Given the description of an element on the screen output the (x, y) to click on. 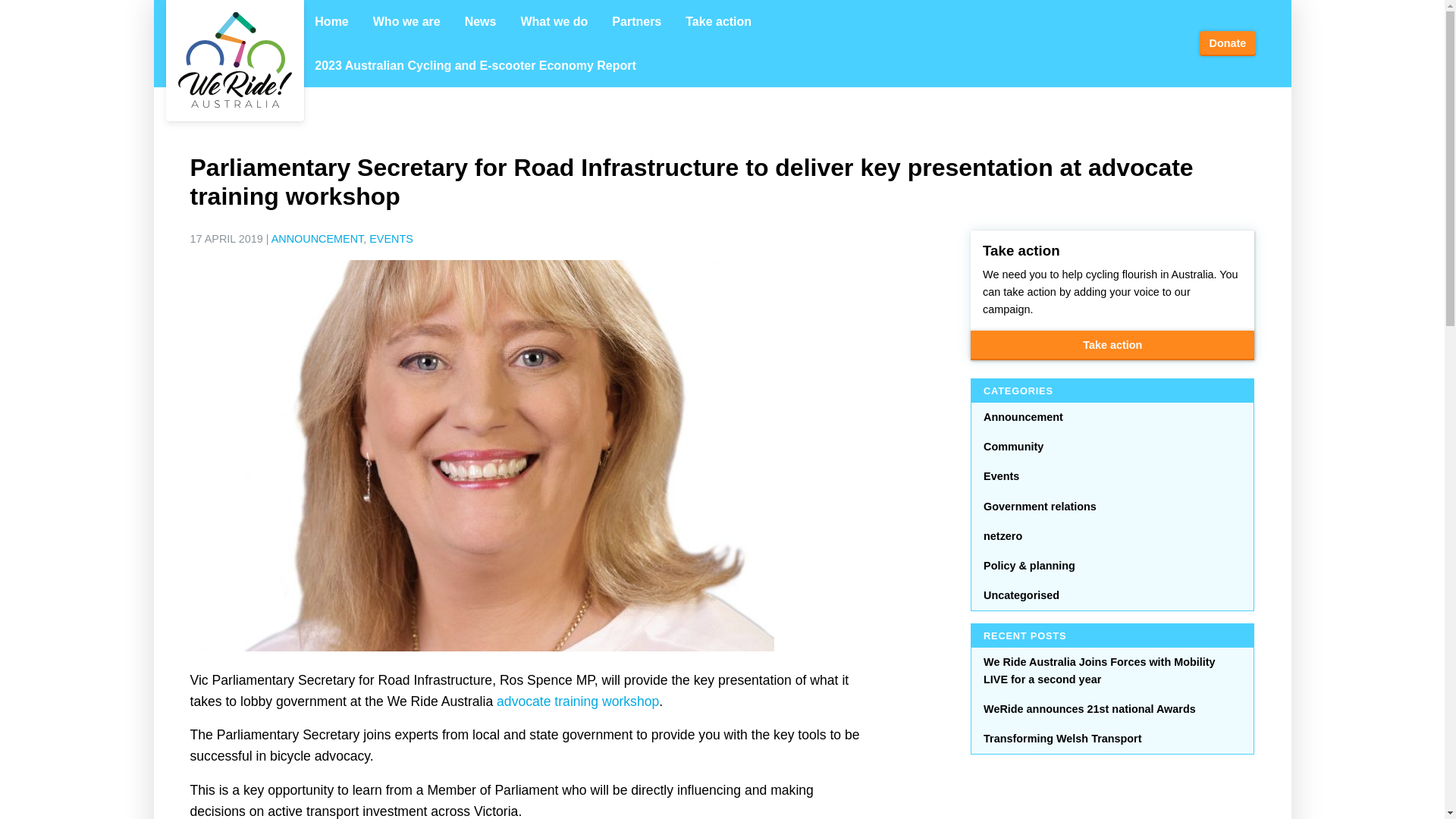
Who we are (406, 22)
What we do (553, 22)
News (480, 22)
Facebook (1121, 40)
we-ride-logo Created with Sketch. (234, 60)
Go to News. (430, 65)
Home (330, 22)
Donate (1227, 43)
we-ride-logo Created with Sketch. (233, 60)
Go to What we do. (366, 65)
